Given the description of an element on the screen output the (x, y) to click on. 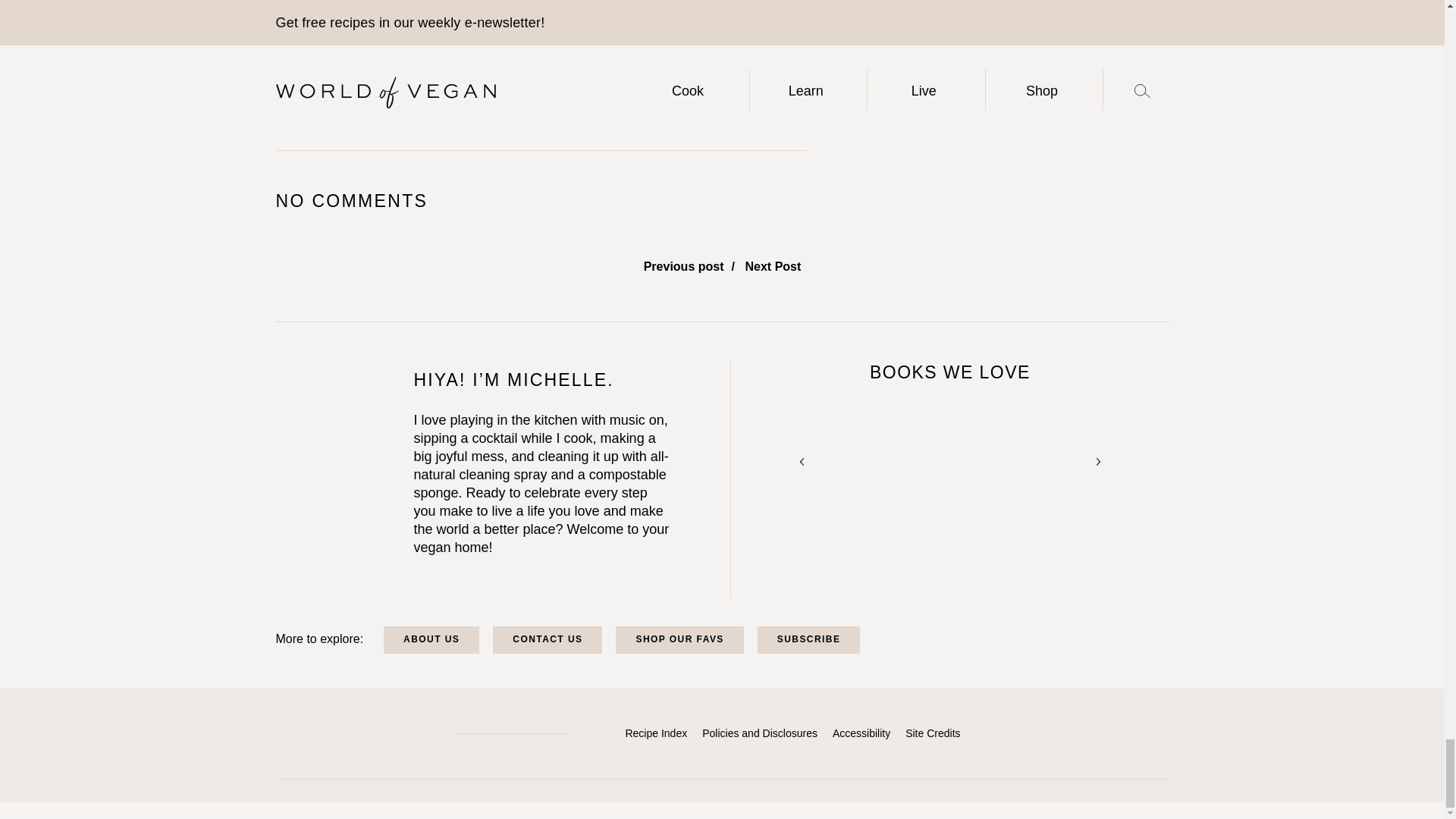
Post Comment (318, 91)
